Given the description of an element on the screen output the (x, y) to click on. 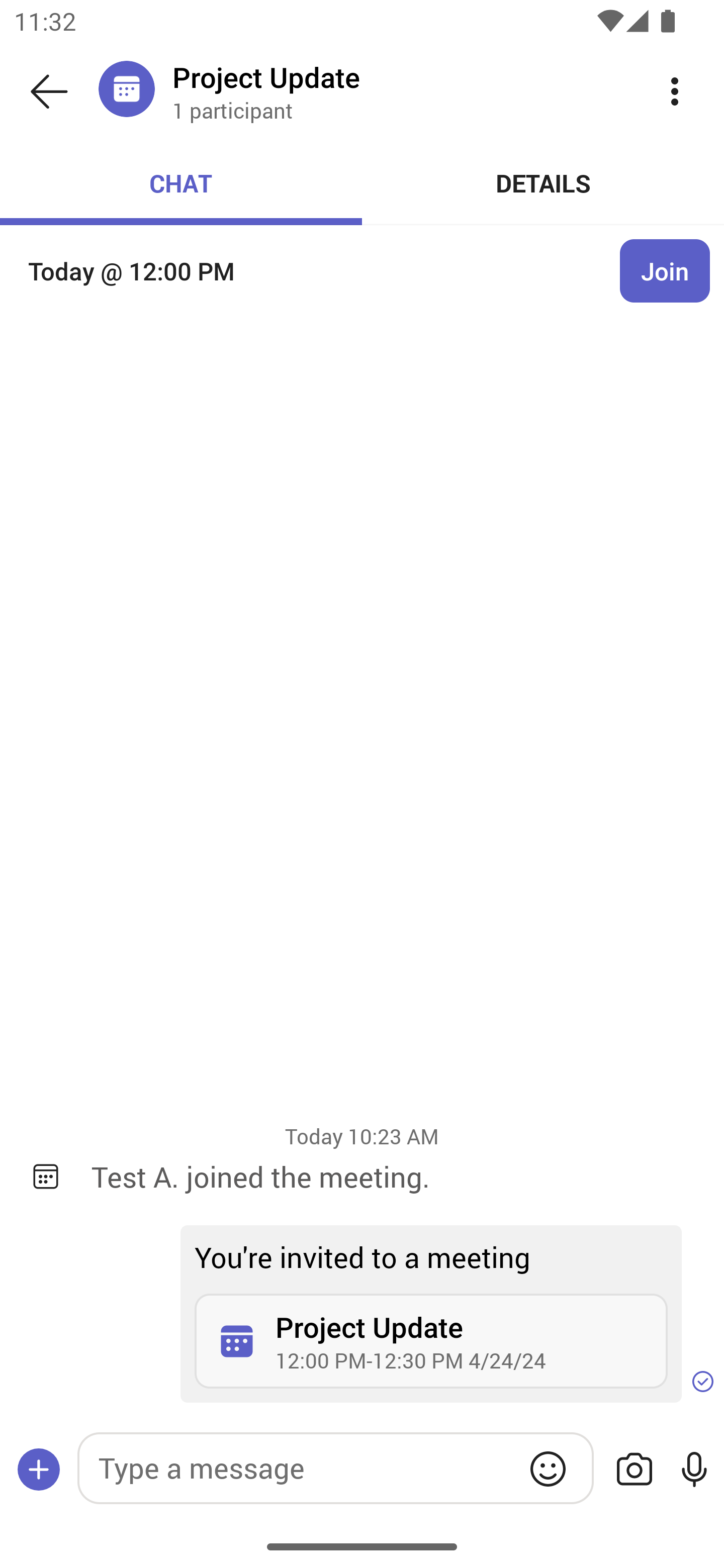
Back (49, 91)
More options (674, 90)
Project Update Project Update 1 participant (398, 90)
Details DETAILS (543, 183)
Join (664, 270)
Test A. joined the meeting. (393, 1175)
Compose options, collapsed (38, 1469)
Button for loading camera action functionality (633, 1469)
Type a message (335, 1467)
GIFs and emojis picker (548, 1468)
